Given the description of an element on the screen output the (x, y) to click on. 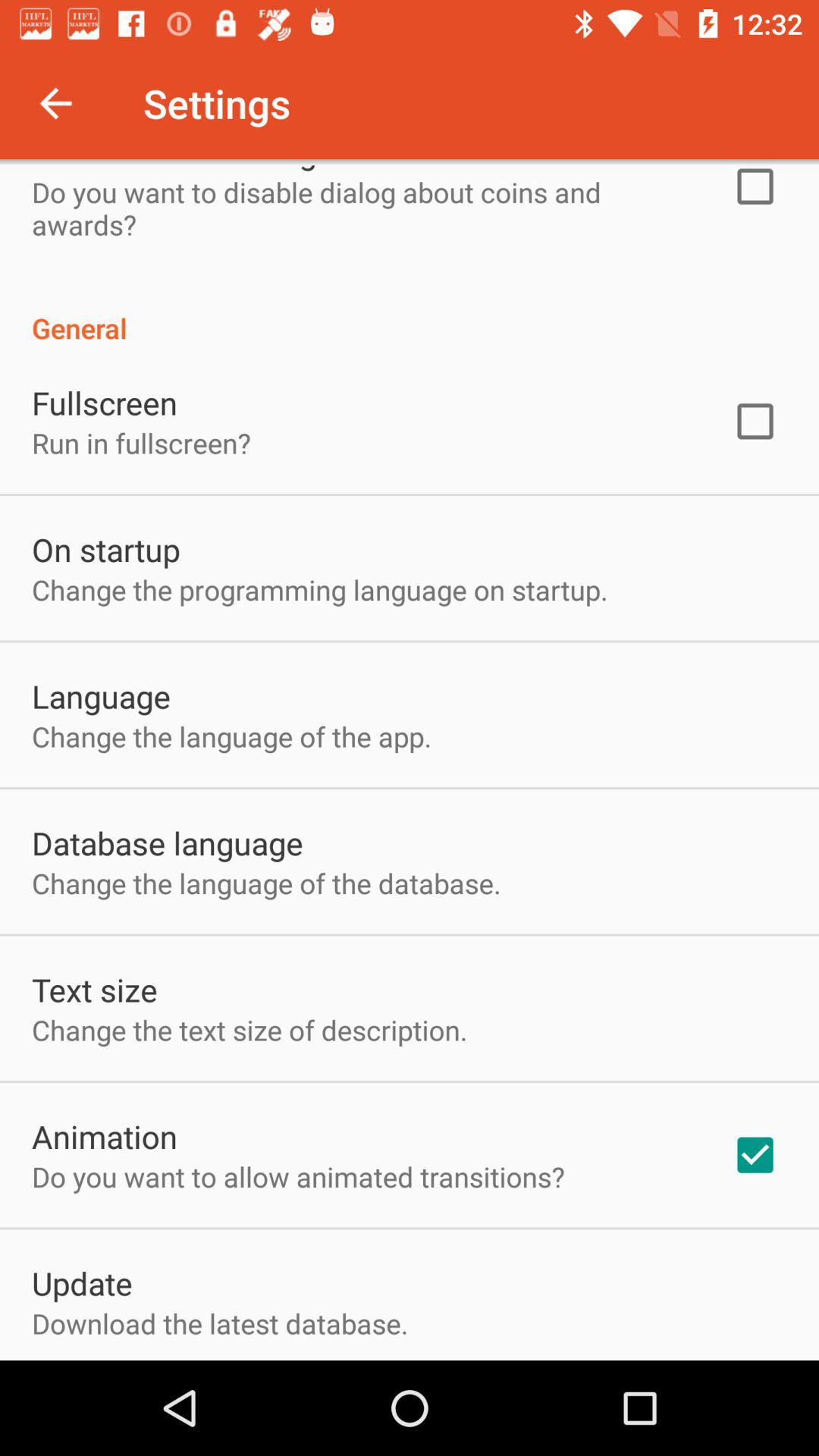
turn off item to the left of settings icon (55, 103)
